Given the description of an element on the screen output the (x, y) to click on. 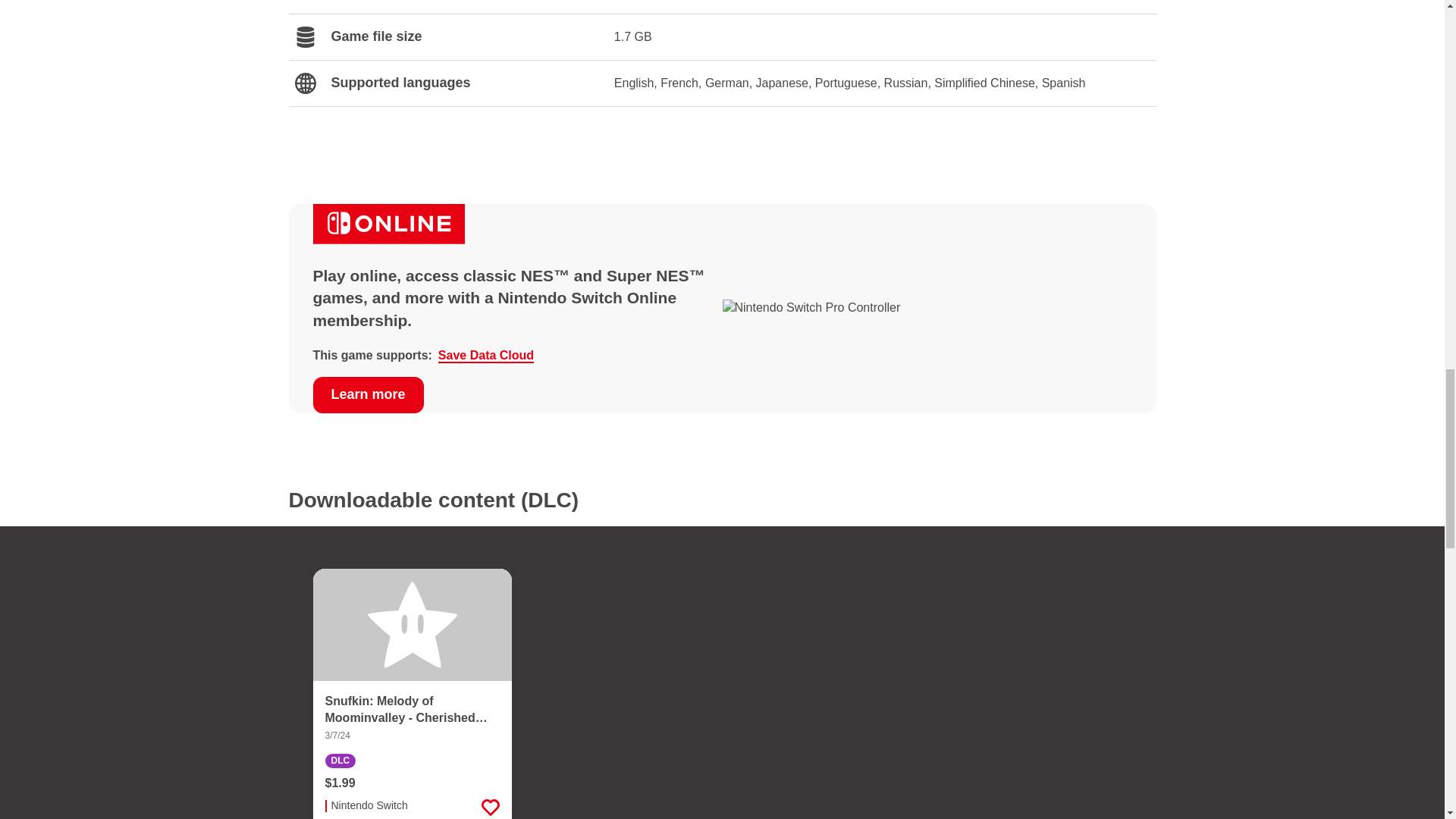
Add to Wish List (489, 802)
